Given the description of an element on the screen output the (x, y) to click on. 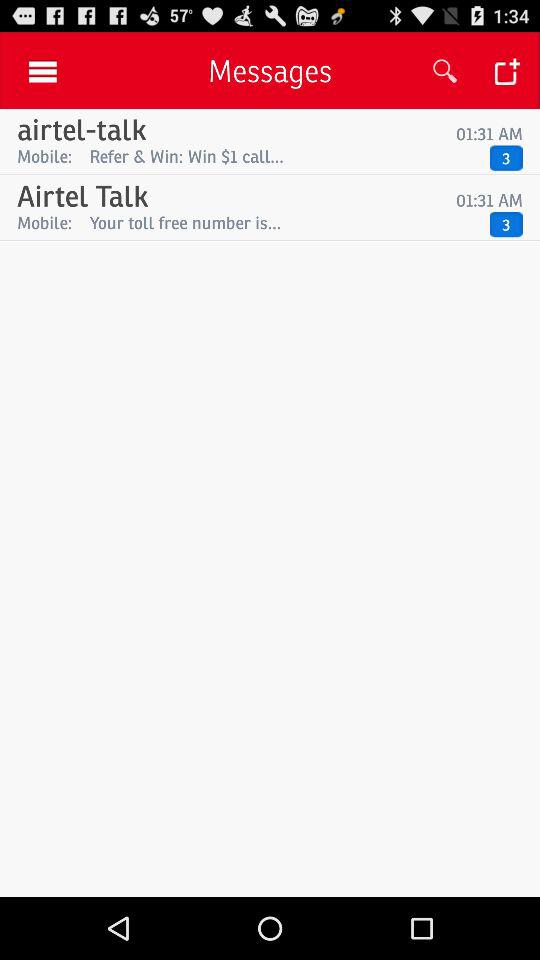
press your toll free (284, 222)
